Given the description of an element on the screen output the (x, y) to click on. 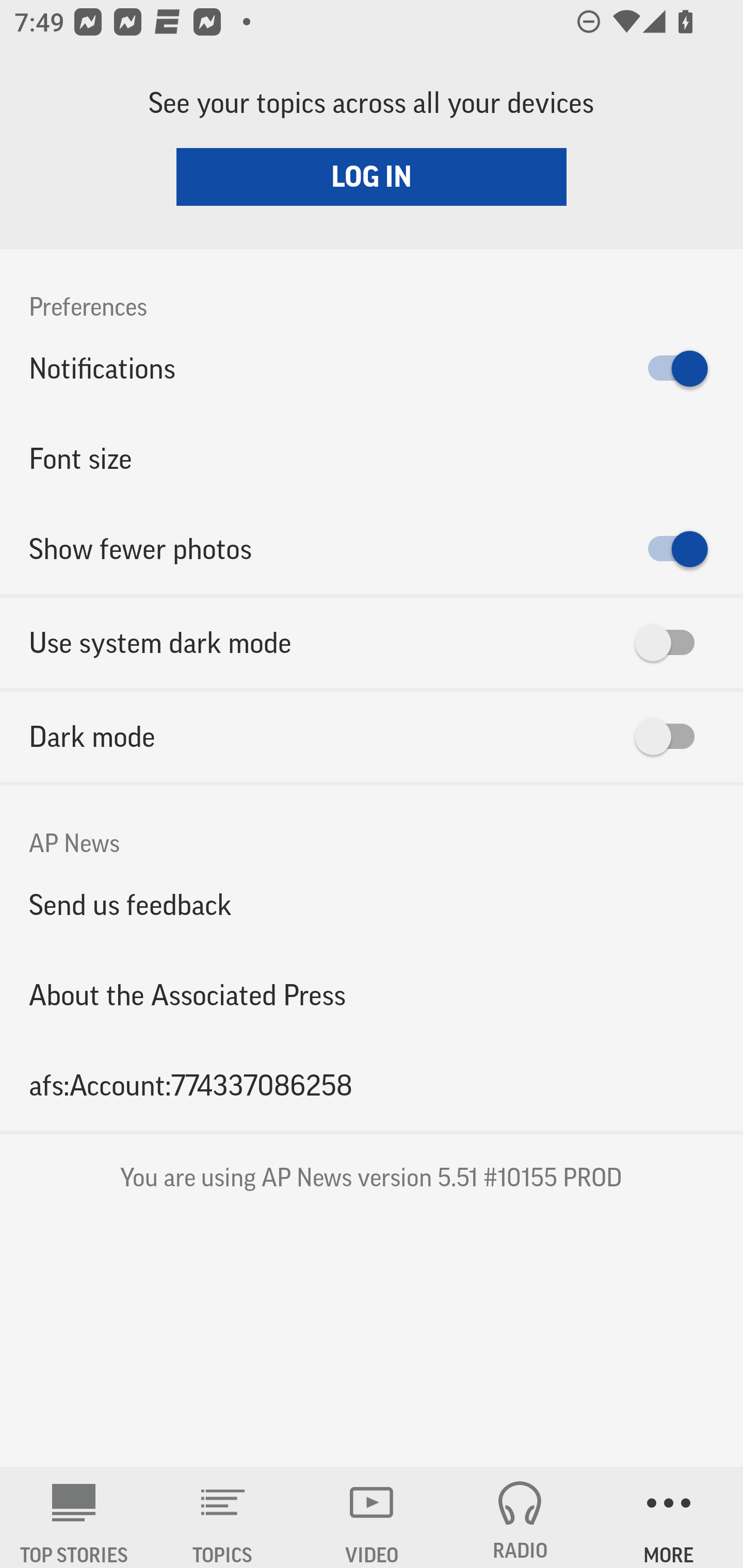
LOG IN (371, 176)
Notifications (371, 368)
Font size (371, 458)
Show fewer photos (371, 548)
Use system dark mode (371, 642)
Dark mode (371, 736)
Send us feedback (371, 904)
About the Associated Press (371, 994)
afs:Account:774337086258 (371, 1084)
AP News TOP STORIES (74, 1517)
TOPICS (222, 1517)
VIDEO (371, 1517)
RADIO (519, 1517)
MORE (668, 1517)
